Given the description of an element on the screen output the (x, y) to click on. 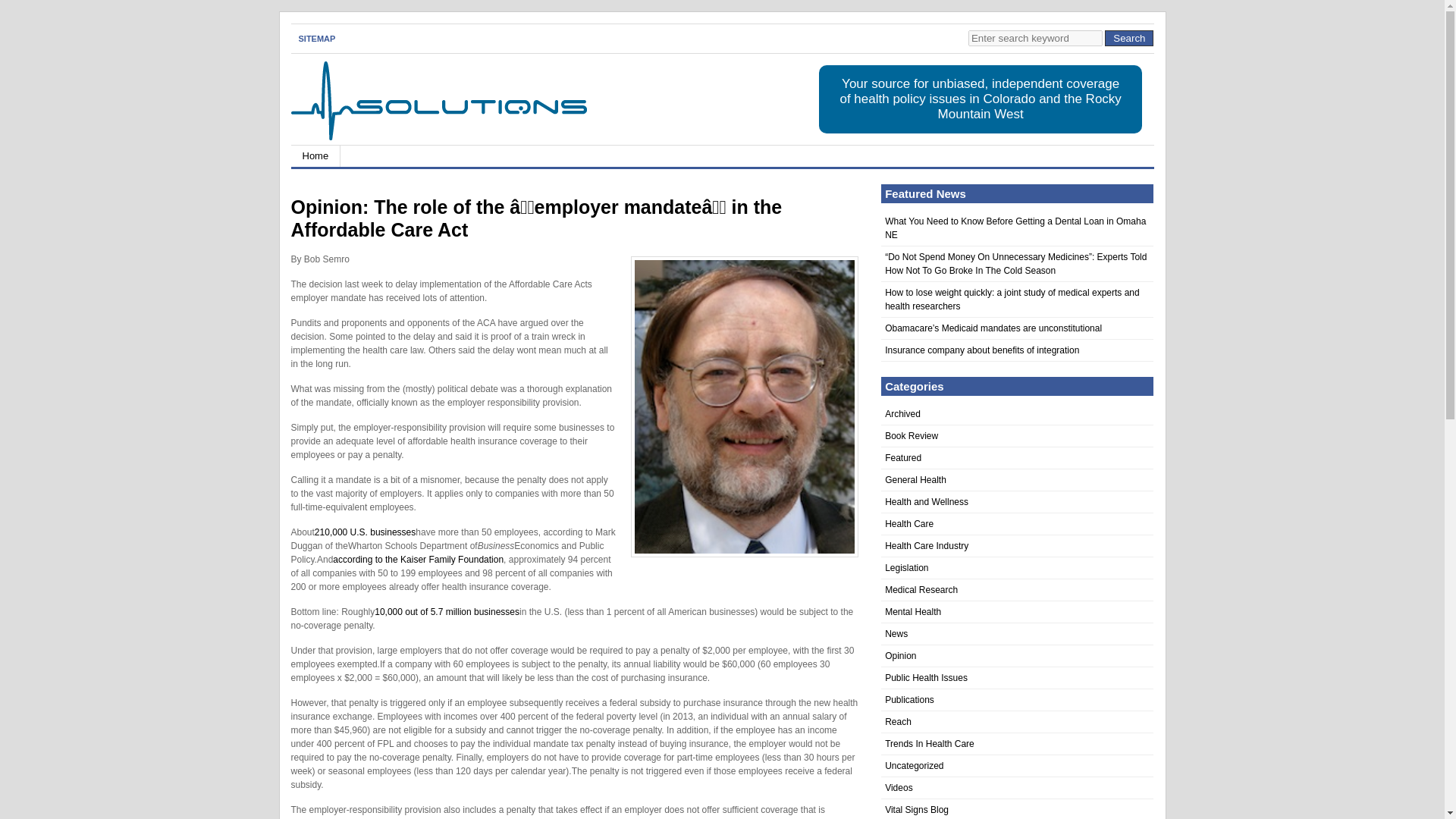
Vital Signs Blog (917, 809)
Insurance company about benefits of integration (981, 349)
Health and Wellness (926, 501)
Health Care (909, 523)
Medical Research (921, 589)
Public Health Issues (926, 677)
Trends In Health Care (929, 743)
SITEMAP (317, 38)
Archived (902, 413)
Book Review (911, 435)
Opinion (900, 655)
Reach (898, 721)
Search (1129, 37)
News (896, 633)
